Given the description of an element on the screen output the (x, y) to click on. 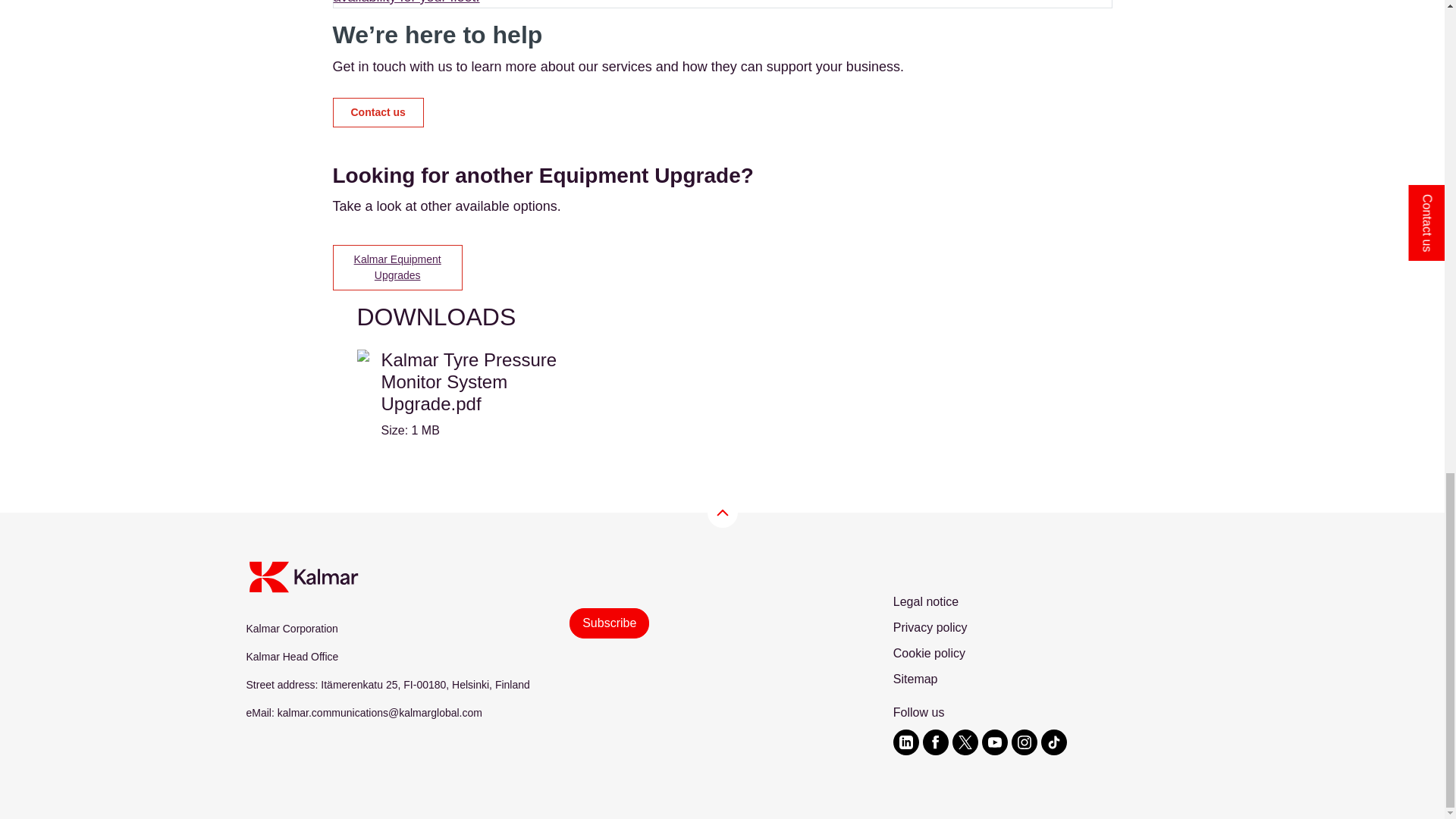
Facebook (338, 472)
Twitter (355, 472)
LinkedIn (373, 472)
Kalmar Tyre Pressure Monitor System Upgrade.pdf (472, 393)
Kalmar logo (302, 576)
